Given the description of an element on the screen output the (x, y) to click on. 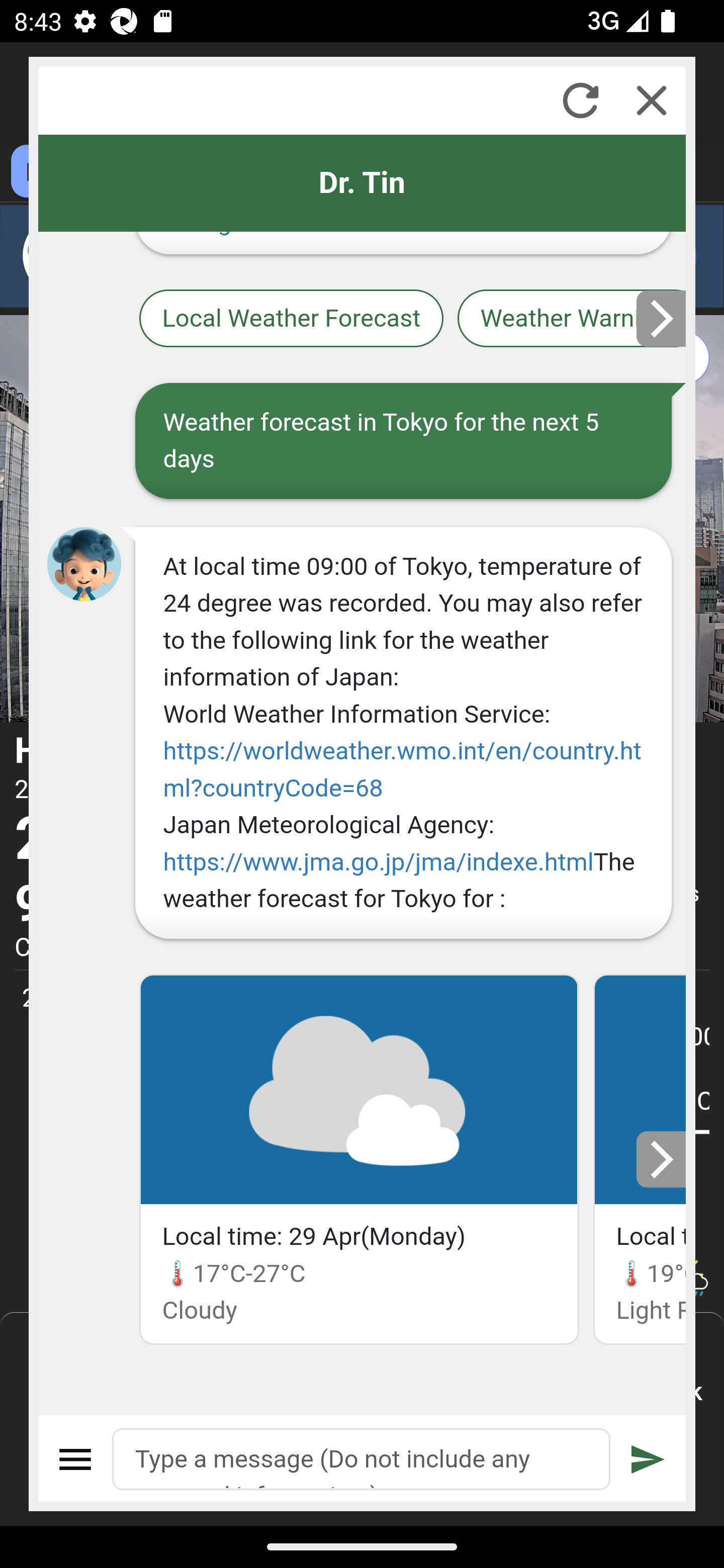
Refresh (580, 100)
Close (651, 100)
Local Weather Forecast (291, 319)
Weather Warnings (571, 319)
Next slide (661, 318)
https://www.jma.go.jp/jma/indexe.html (377, 861)
Next slide (661, 1159)
Menu (75, 1458)
Submit (648, 1458)
